Given the description of an element on the screen output the (x, y) to click on. 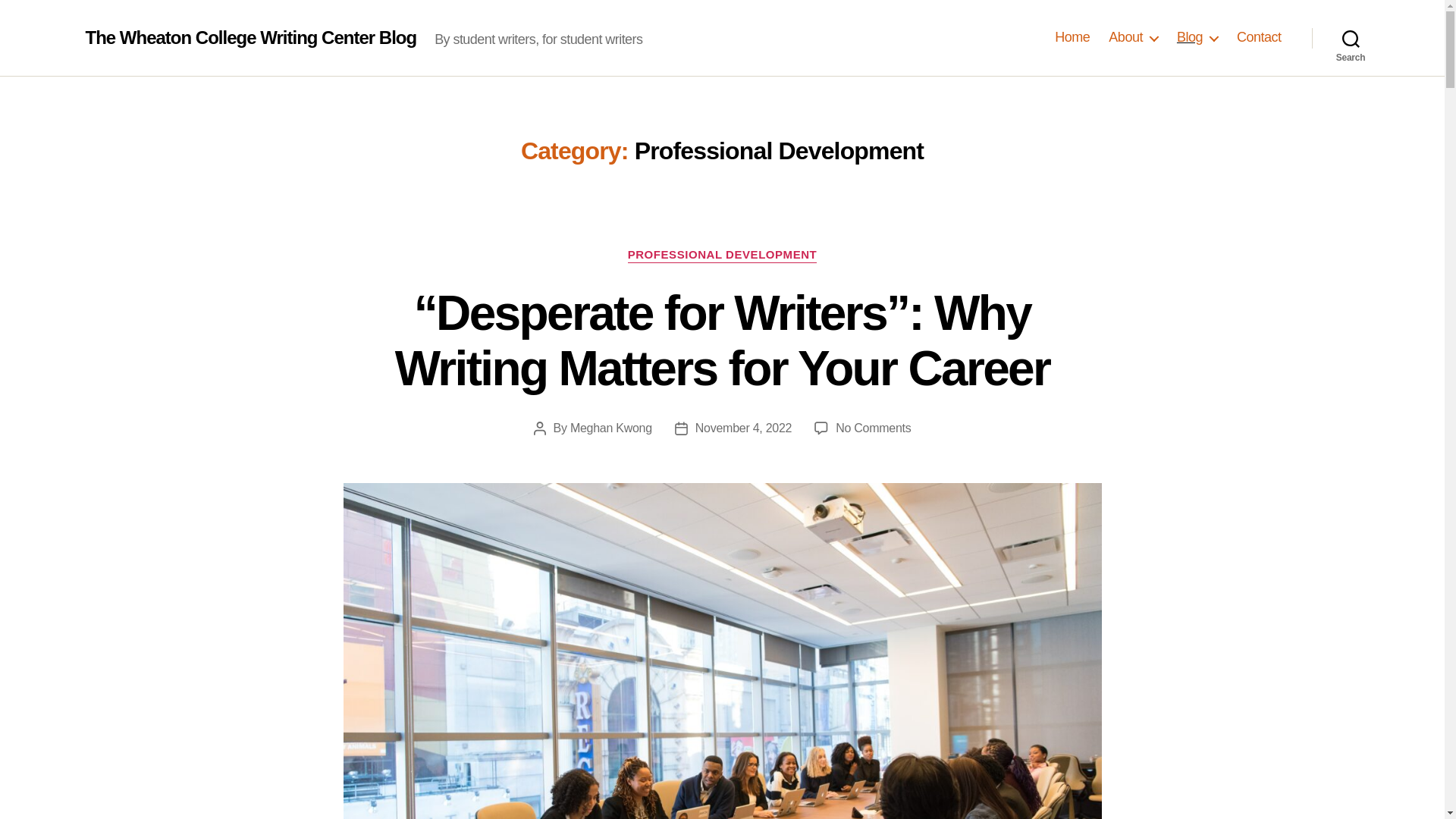
Home (1071, 37)
Contact (1258, 37)
PROFESSIONAL DEVELOPMENT (721, 255)
Blog (1196, 37)
The Wheaton College Writing Center Blog (250, 37)
Search (1350, 37)
About (1132, 37)
Meghan Kwong (611, 427)
November 4, 2022 (743, 427)
